Given the description of an element on the screen output the (x, y) to click on. 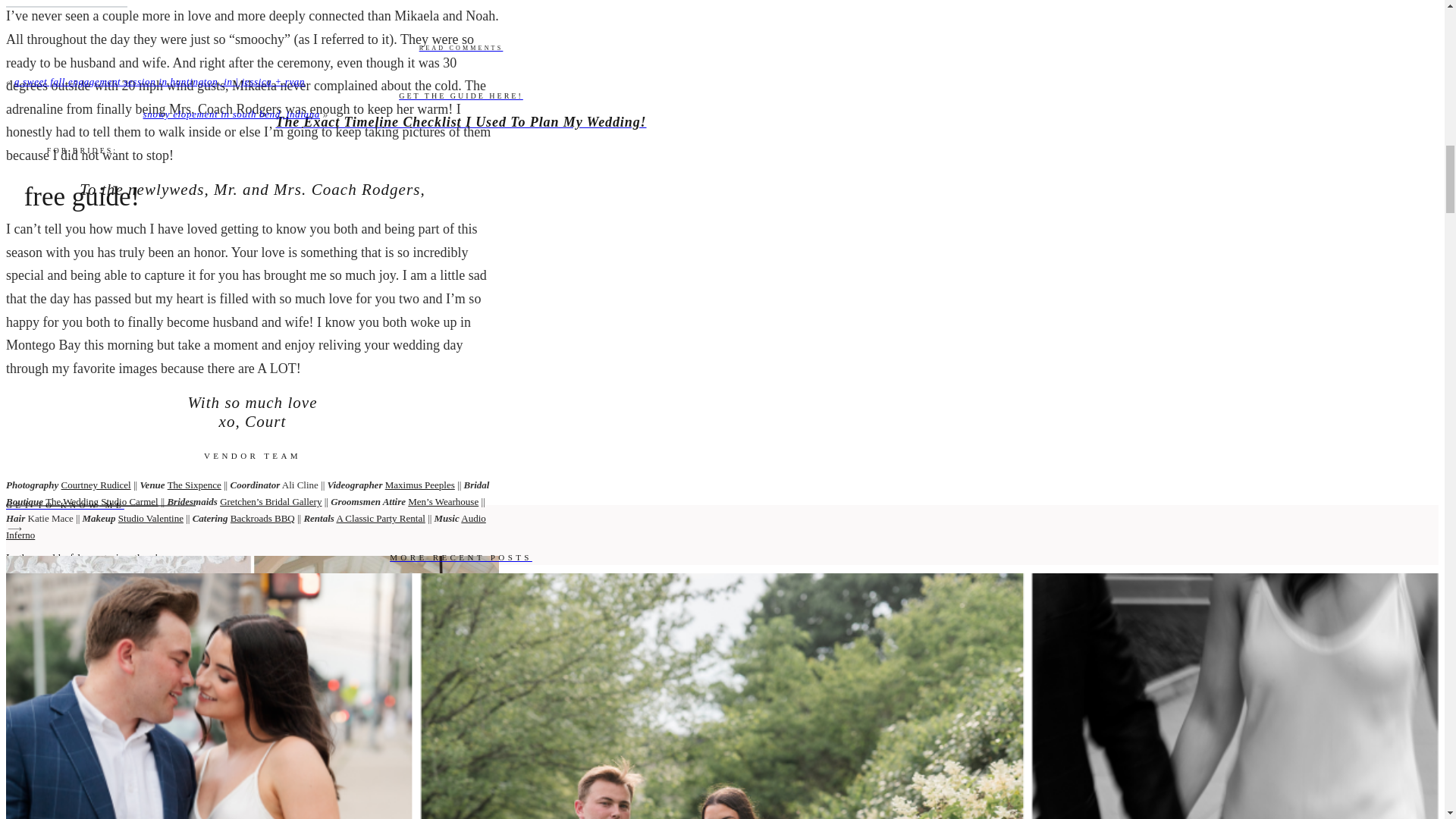
READ COMMENTS (460, 48)
Courtney Rudicel (96, 484)
MORE RECENT POSTS (460, 558)
snowy elopement in south bend, indiana (231, 113)
The Exact Timeline Checklist I Used To Plan My Wedding! (460, 122)
The Sixpence (194, 484)
Maximus Peeples (419, 484)
Studio Valentine (150, 518)
The Wedding Studio Carmel (101, 501)
A Classic Party Rental (380, 518)
Backroads BBQ (262, 518)
Audio Inferno (245, 526)
GET TO KNOW ME (460, 505)
